Given the description of an element on the screen output the (x, y) to click on. 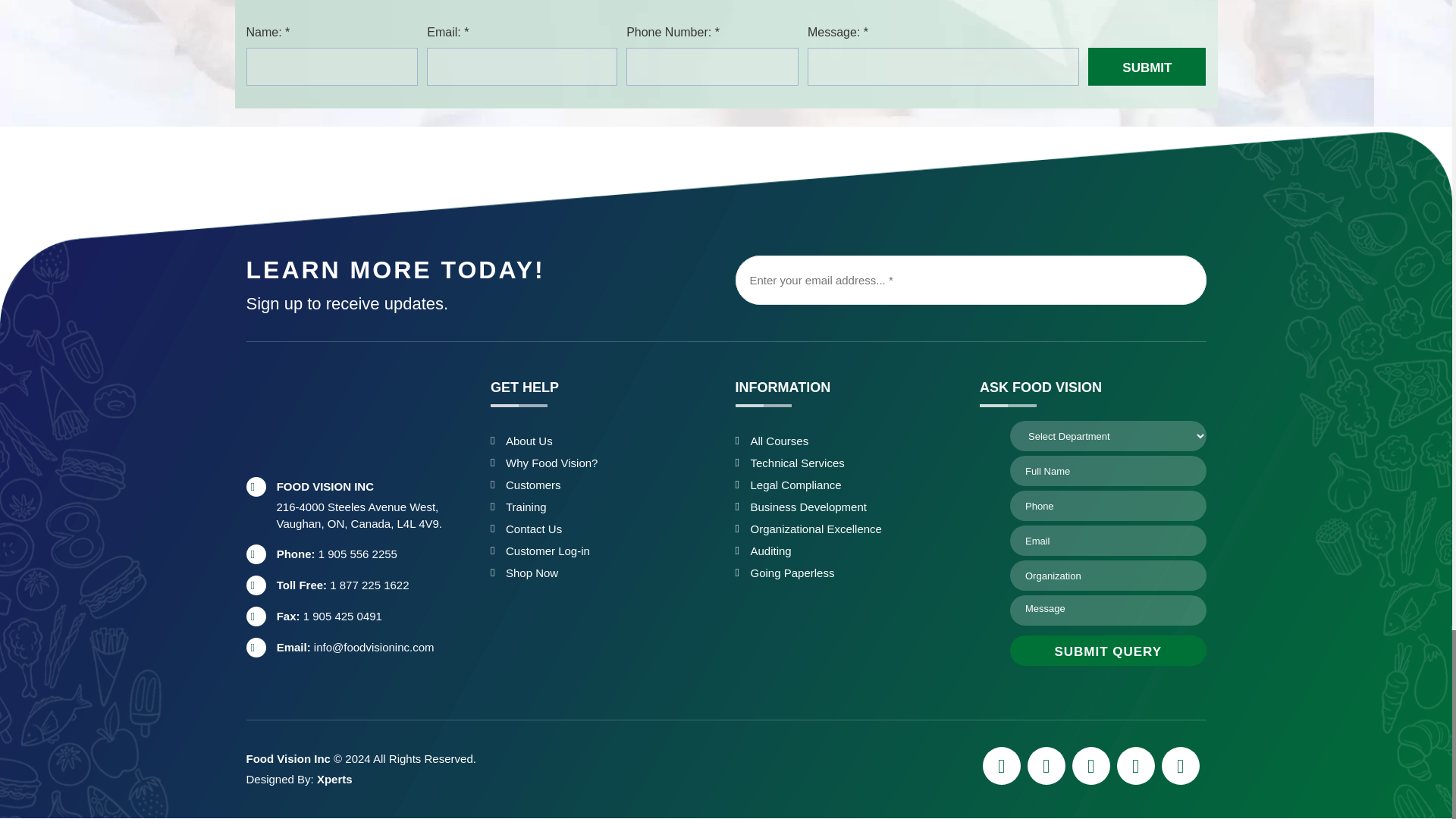
Submit (1146, 66)
Submit Query (1108, 650)
Enter your email address... (971, 279)
